Given the description of an element on the screen output the (x, y) to click on. 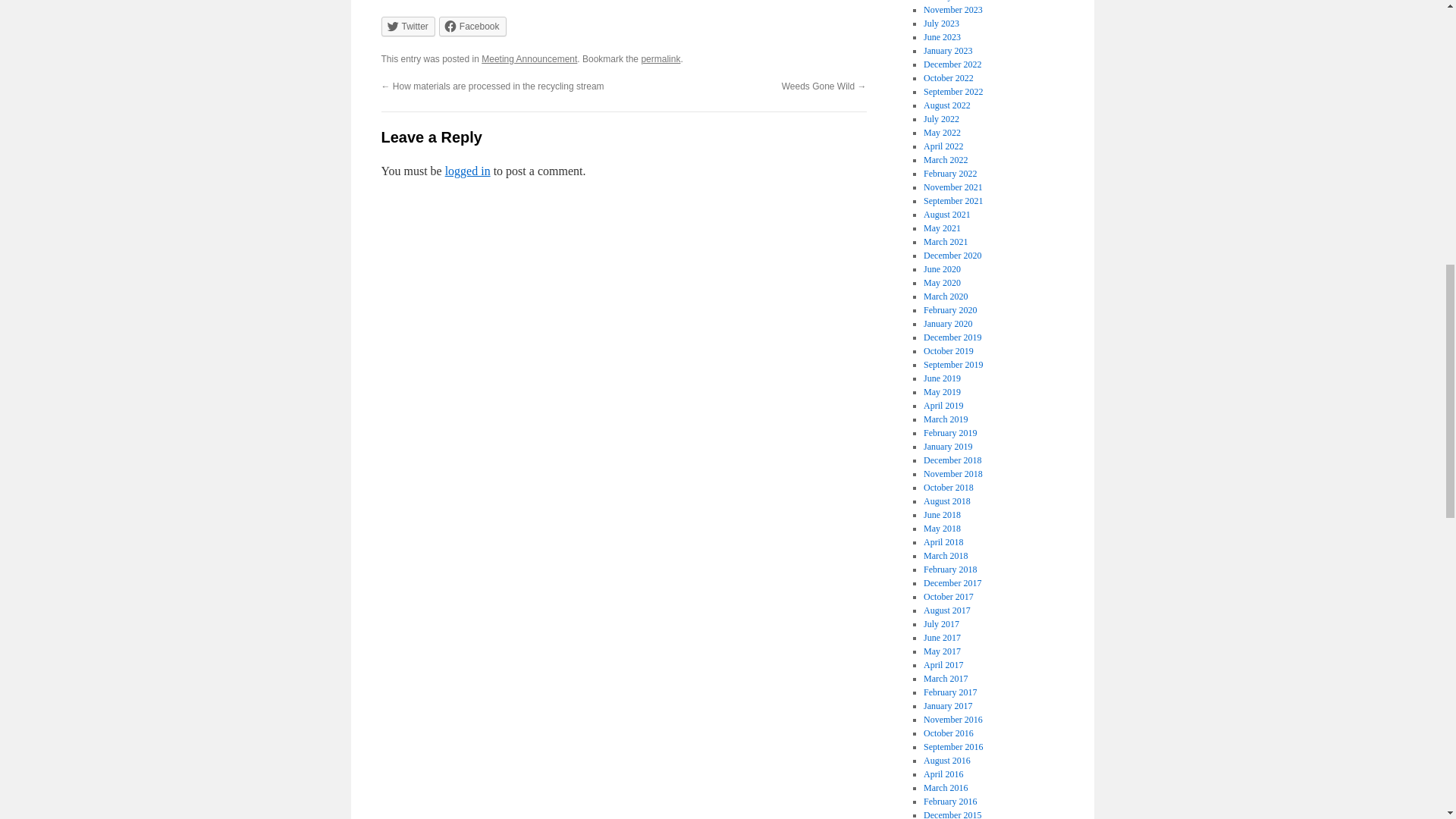
Meeting Announcement (528, 59)
Click to share on Twitter (406, 26)
Click to share on Facebook (472, 26)
Twitter (406, 26)
Facebook (472, 26)
